Given the description of an element on the screen output the (x, y) to click on. 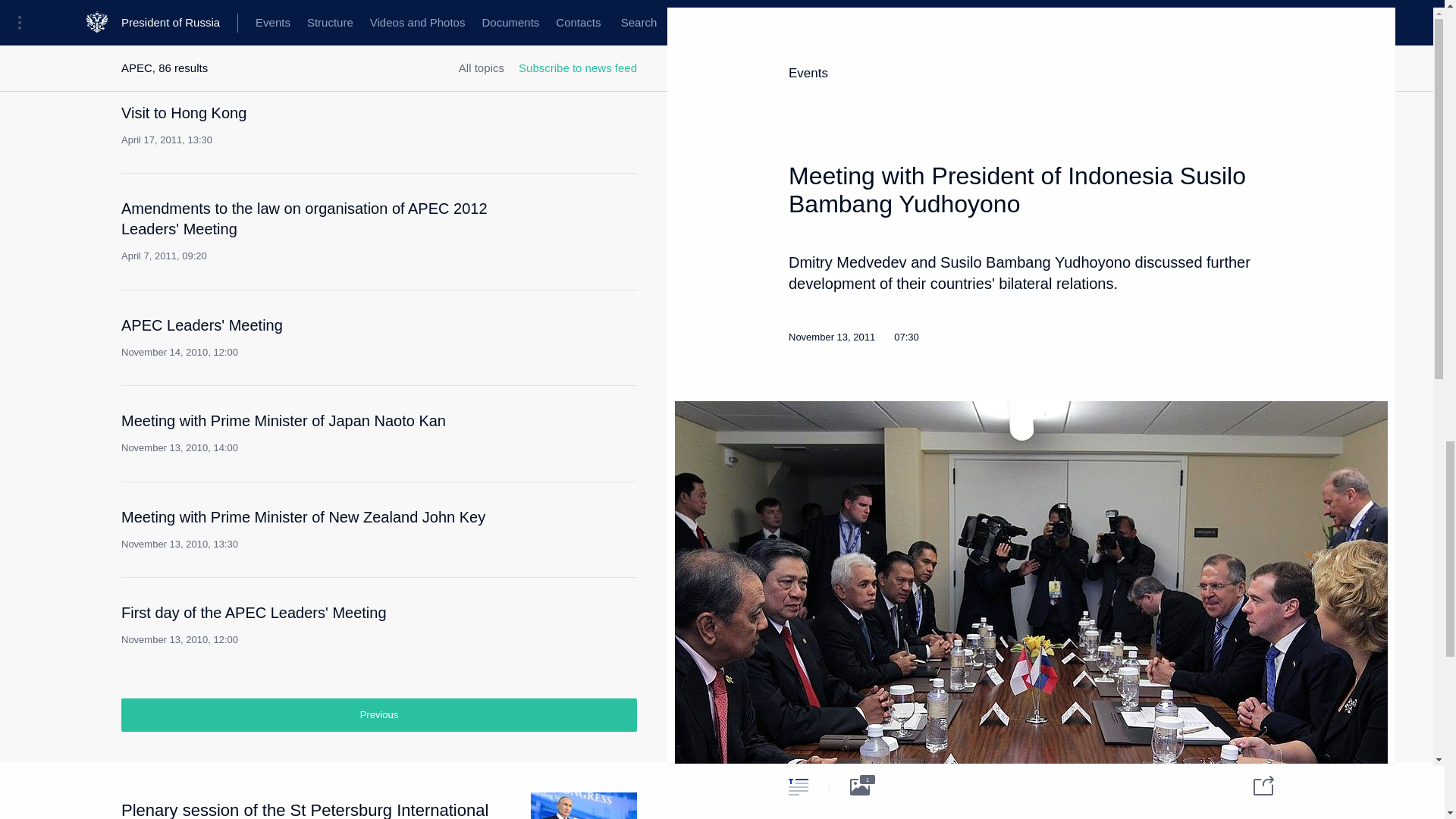
Previous (321, 337)
